Given the description of an element on the screen output the (x, y) to click on. 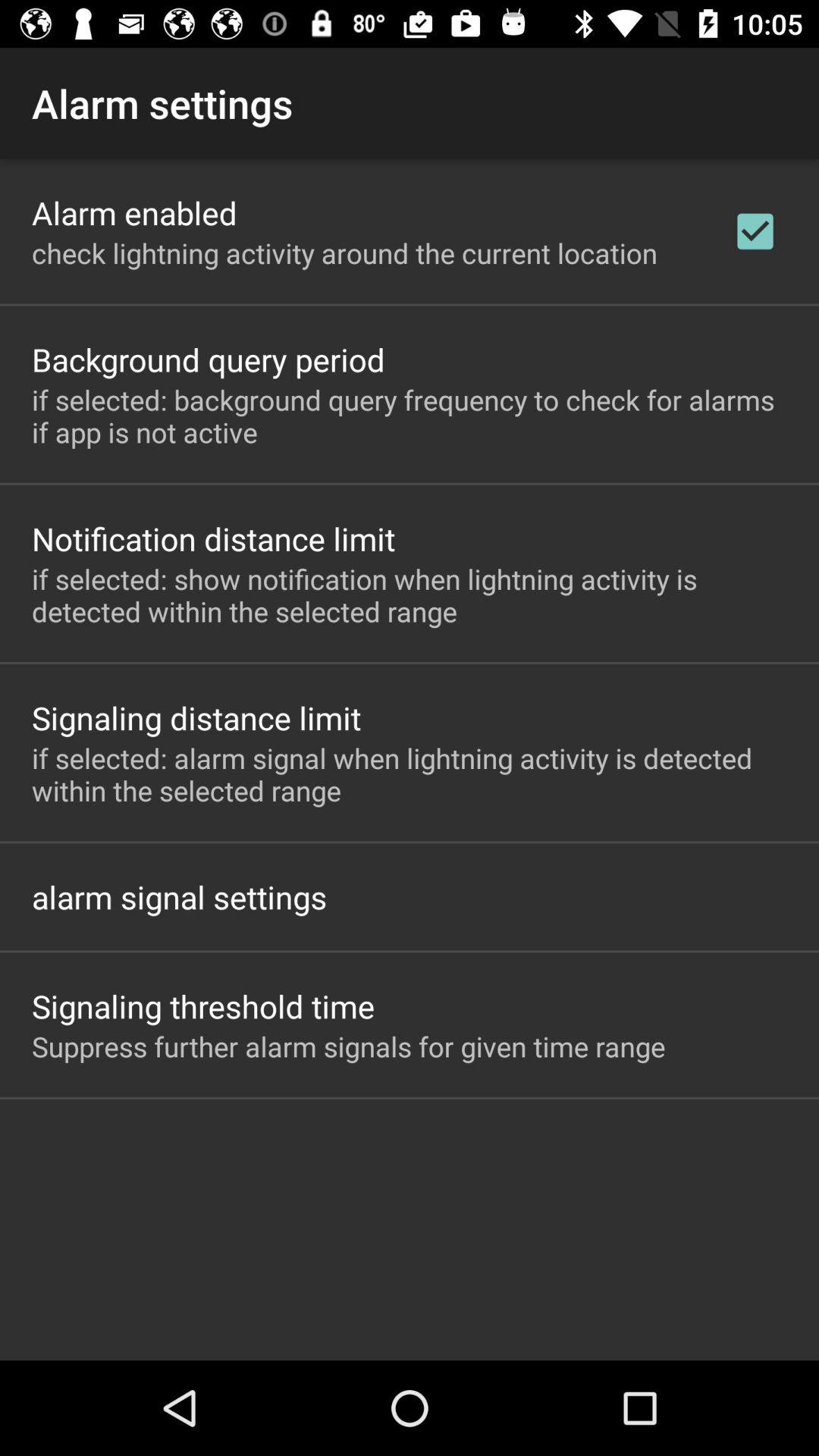
select signaling threshold time app (202, 1005)
